Given the description of an element on the screen output the (x, y) to click on. 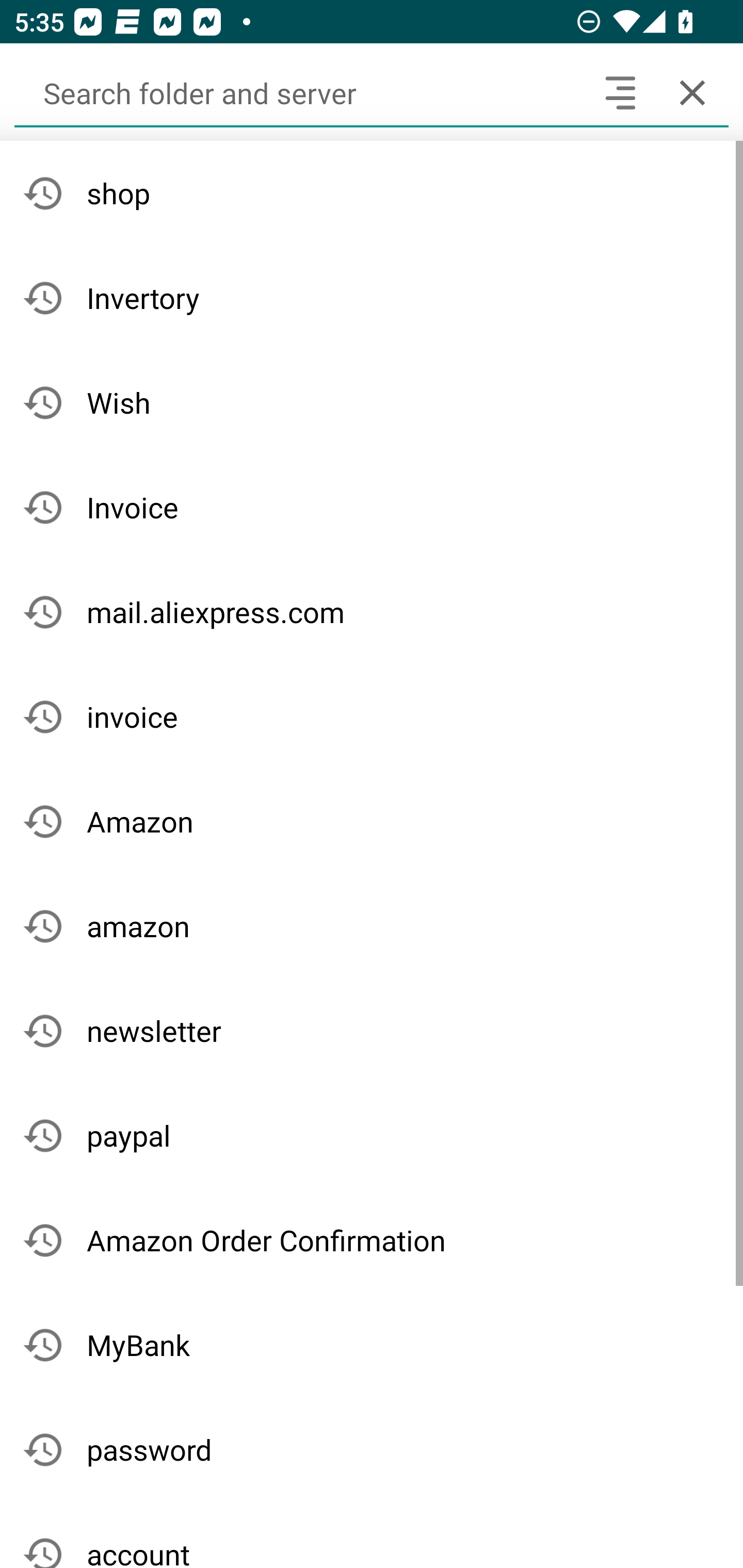
   Search folder and server (298, 92)
Search headers and text (619, 92)
Cancel (692, 92)
